Given the description of an element on the screen output the (x, y) to click on. 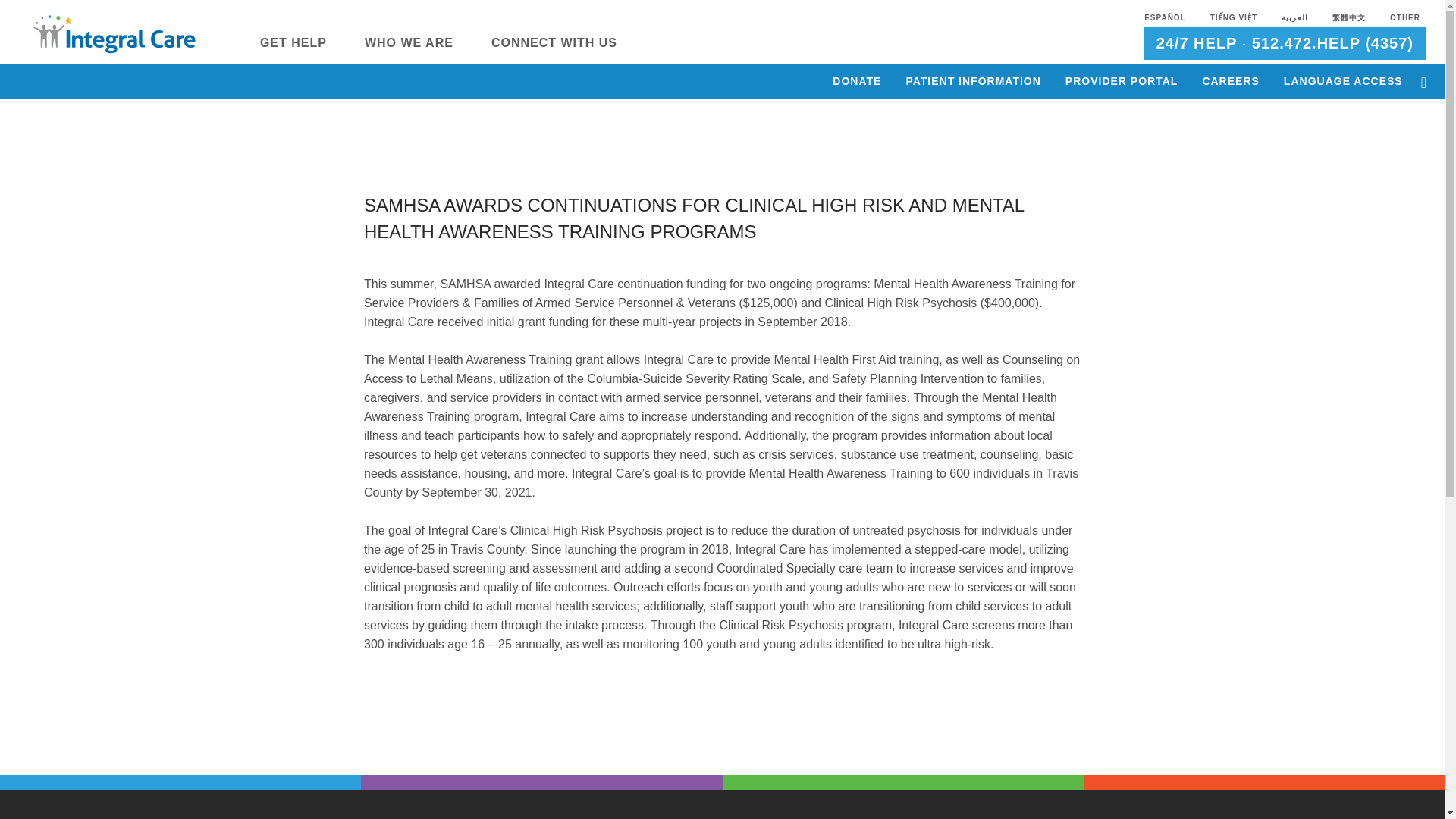
WHO WE ARE (408, 54)
OTHER (1405, 17)
GET HELP (293, 54)
CONNECT WITH US (554, 54)
